Given the description of an element on the screen output the (x, y) to click on. 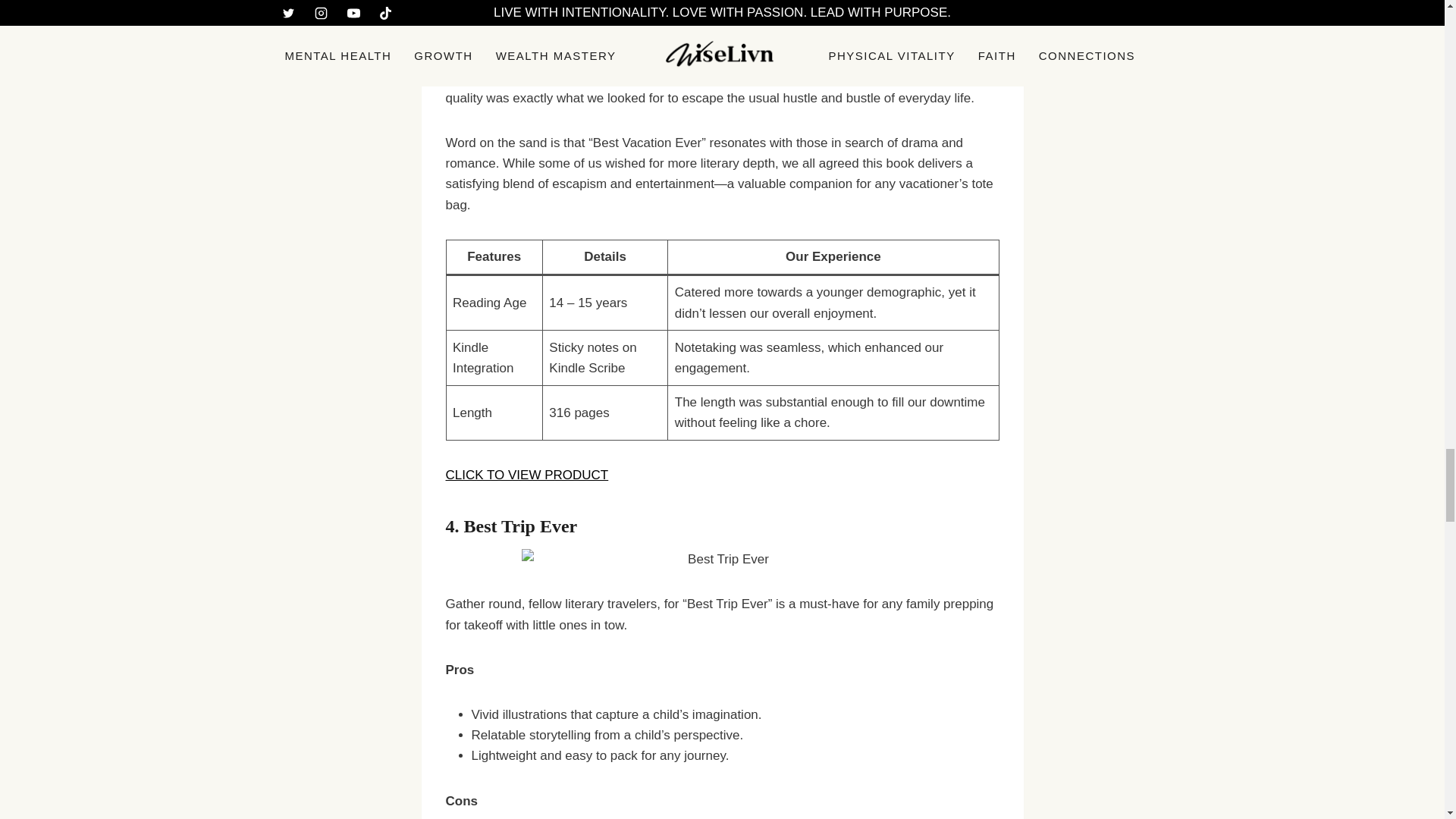
Best Trip Ever (521, 526)
CLICK TO VIEW PRODUCT (526, 474)
